Given the description of an element on the screen output the (x, y) to click on. 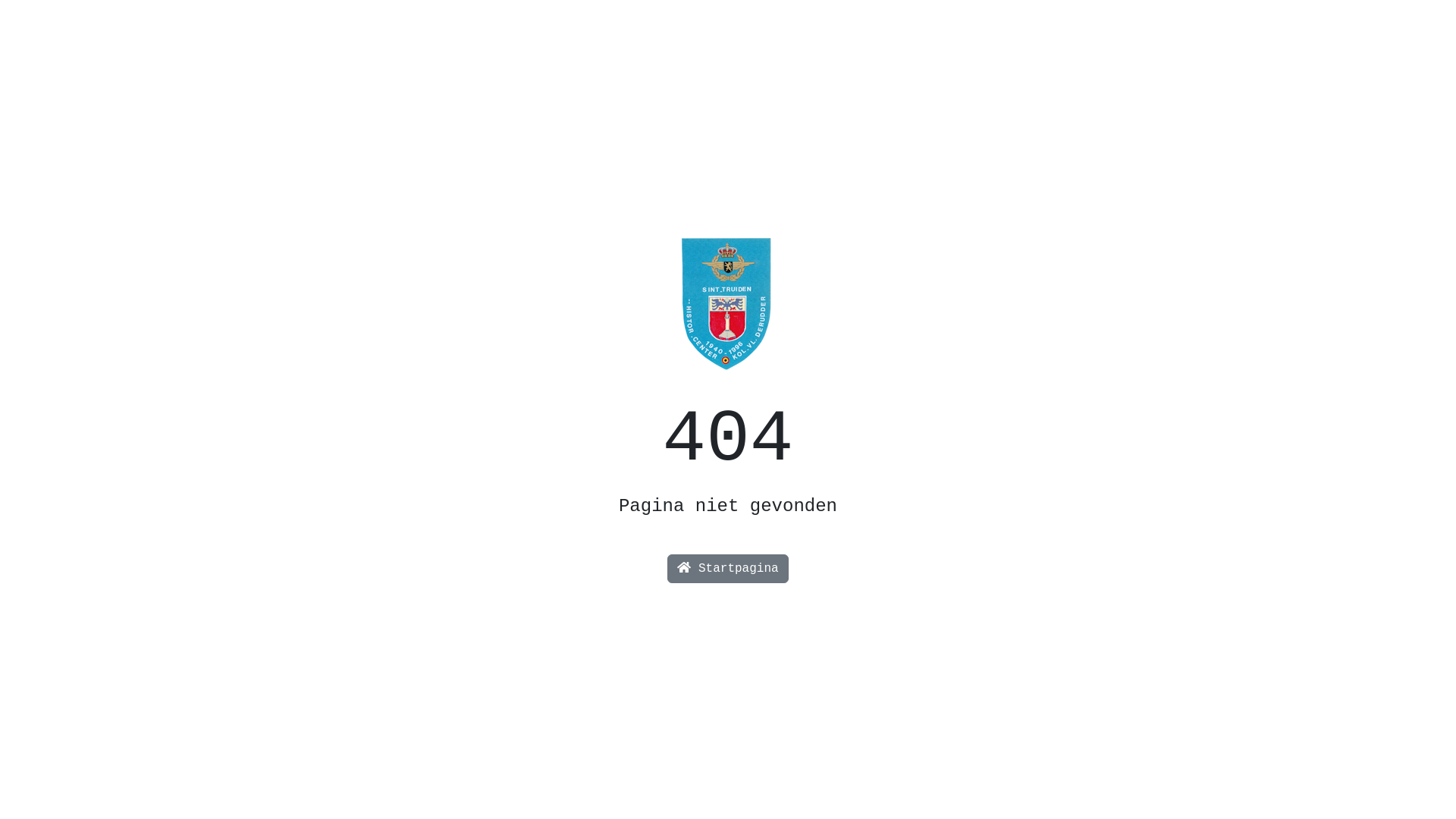
Startpagina Element type: text (727, 568)
